Given the description of an element on the screen output the (x, y) to click on. 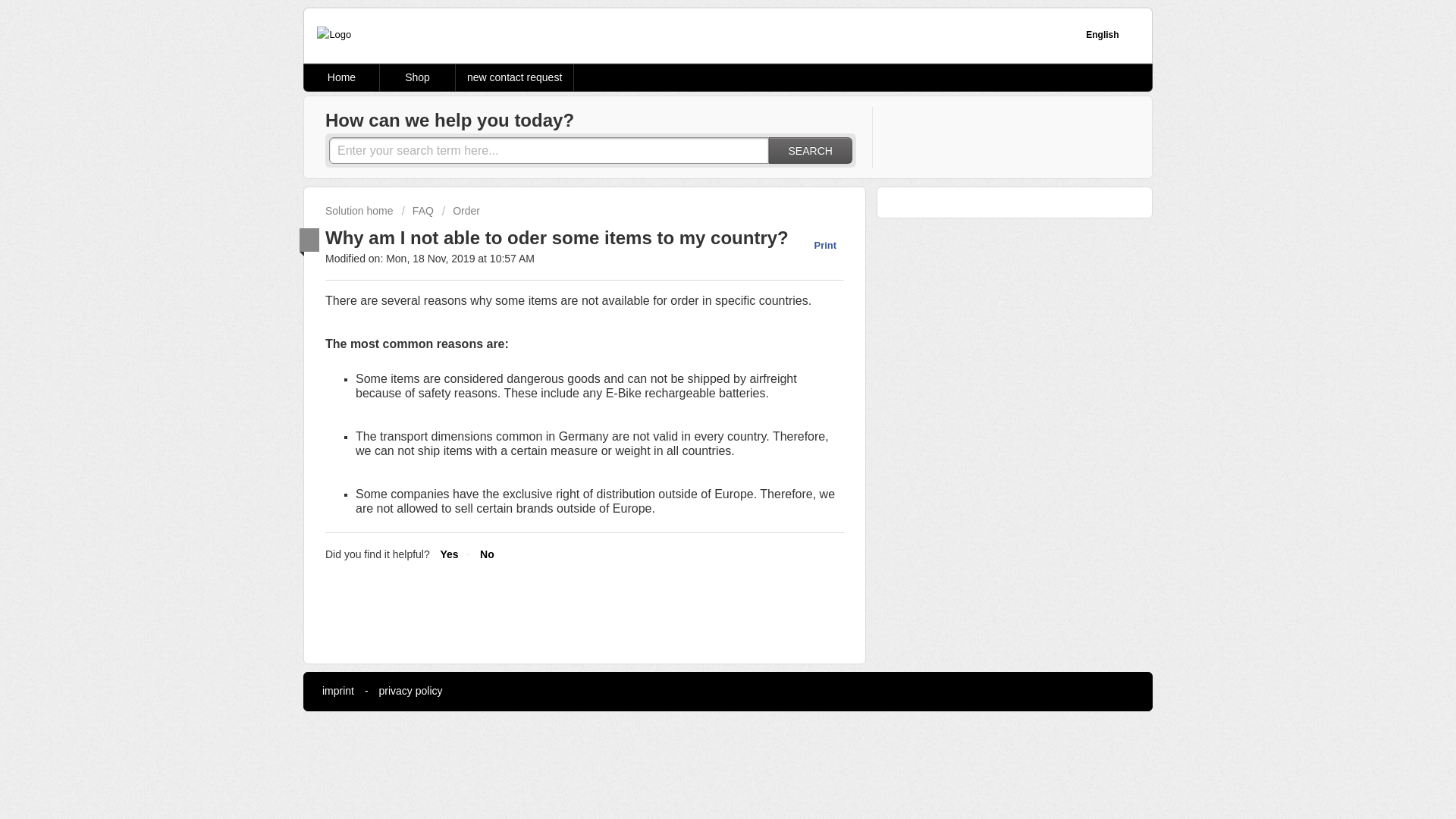
SEARCH (809, 150)
imprint (337, 690)
Home (342, 77)
Order (461, 210)
Print this Article (818, 244)
FAQ (416, 210)
Shop (417, 77)
privacy policy (410, 690)
Print (818, 244)
new contact request (514, 77)
Solution home (360, 210)
